Given the description of an element on the screen output the (x, y) to click on. 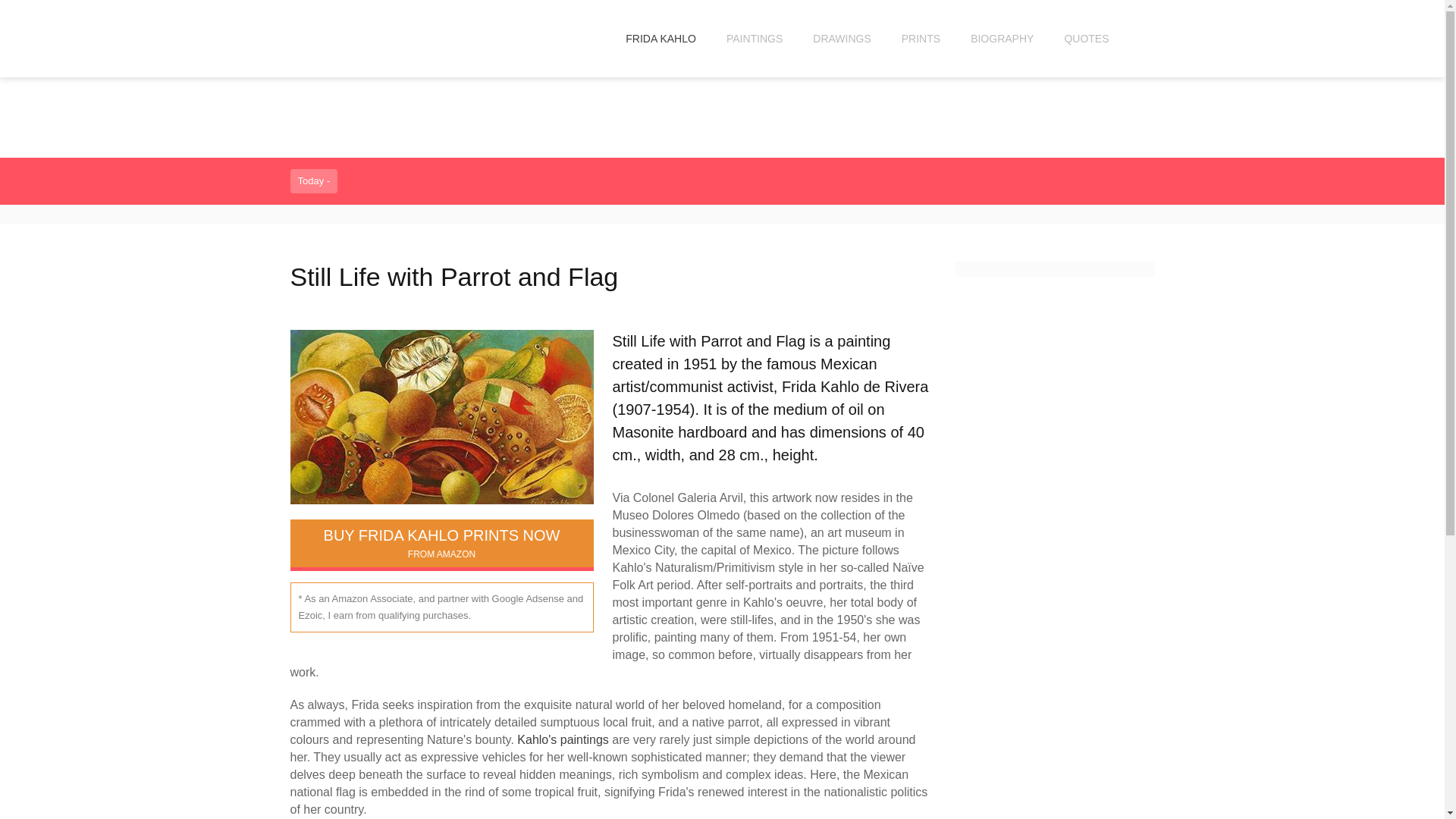
PAINTINGS (754, 38)
QUOTES (1086, 38)
FRIDA KAHLO (660, 38)
PRINTS (920, 38)
DRAWINGS (841, 38)
BIOGRAPHY (1001, 38)
Kahlo's paintings (562, 739)
